Given the description of an element on the screen output the (x, y) to click on. 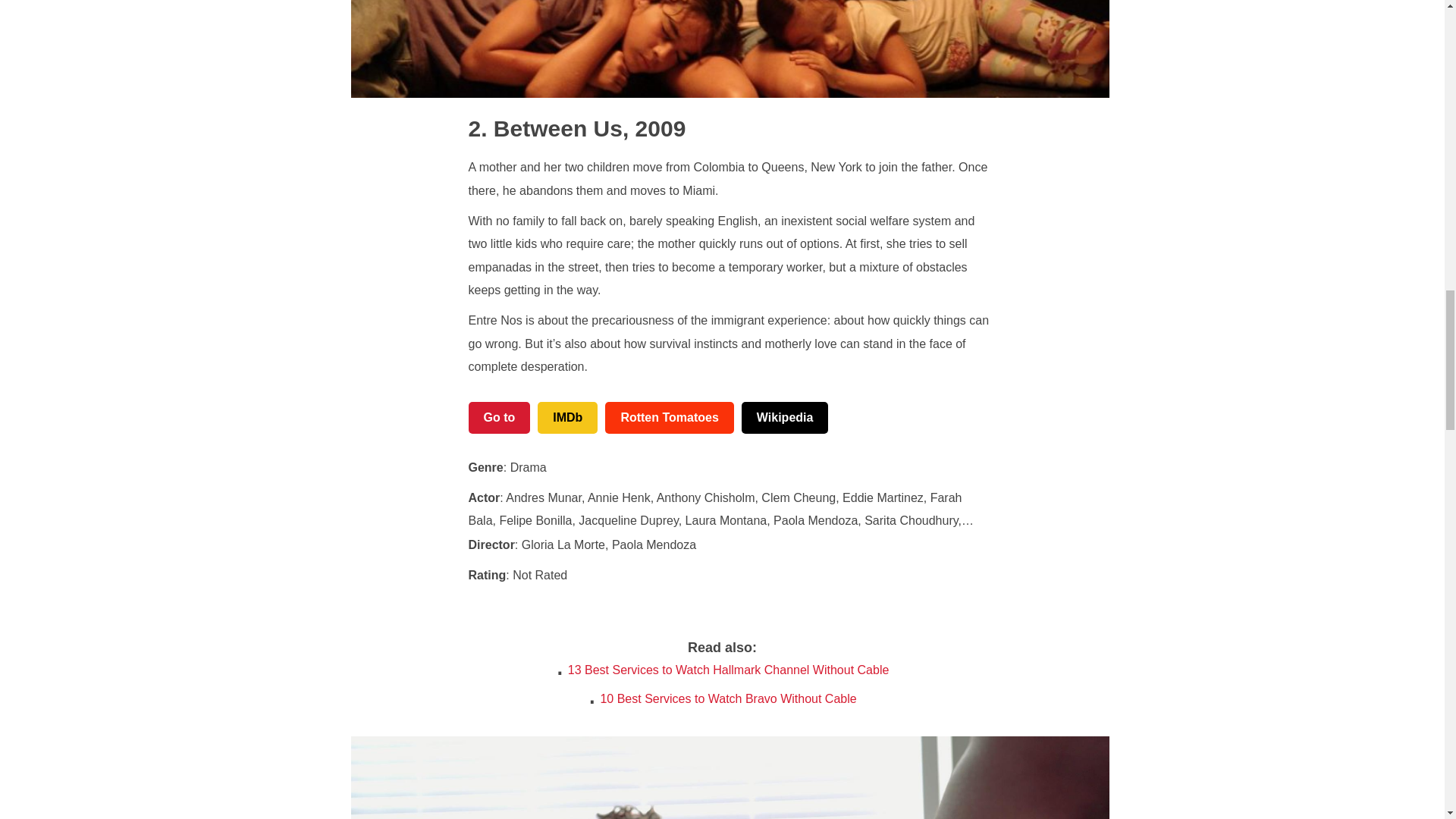
Between Us (545, 128)
